Given the description of an element on the screen output the (x, y) to click on. 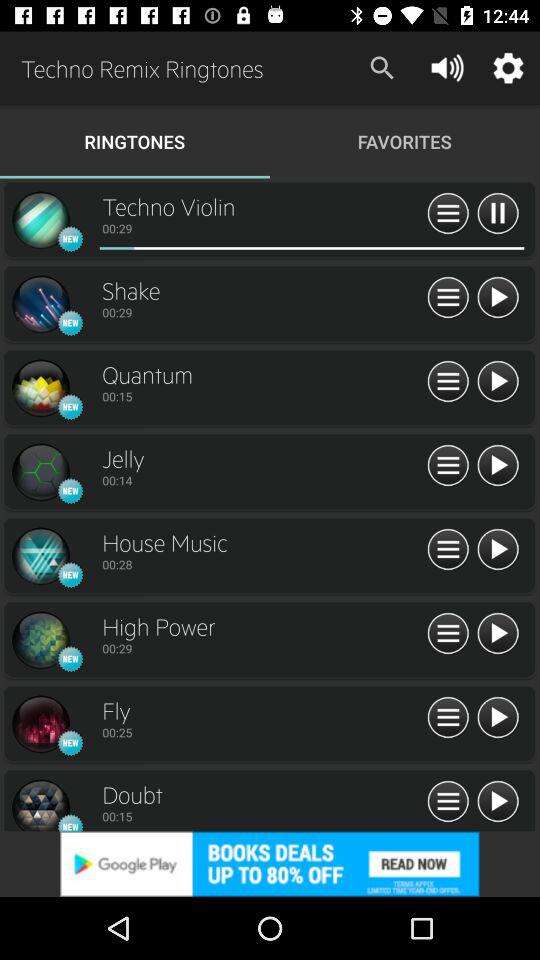
playlist (447, 549)
